Given the description of an element on the screen output the (x, y) to click on. 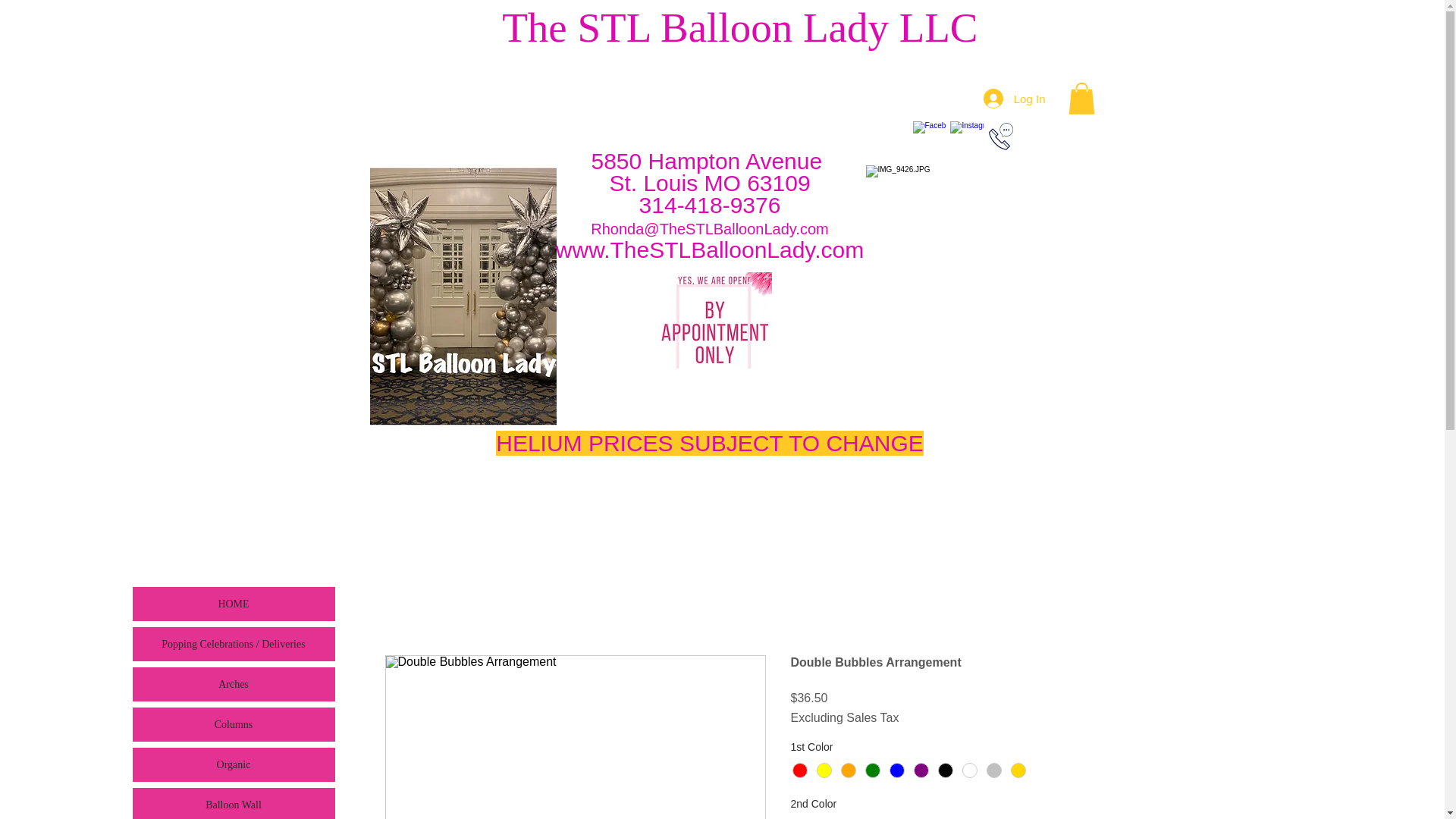
Columns (233, 724)
Log In (1014, 98)
HOME (233, 603)
Arches (233, 684)
Balloon Wall (233, 803)
Organic (233, 764)
